Given the description of an element on the screen output the (x, y) to click on. 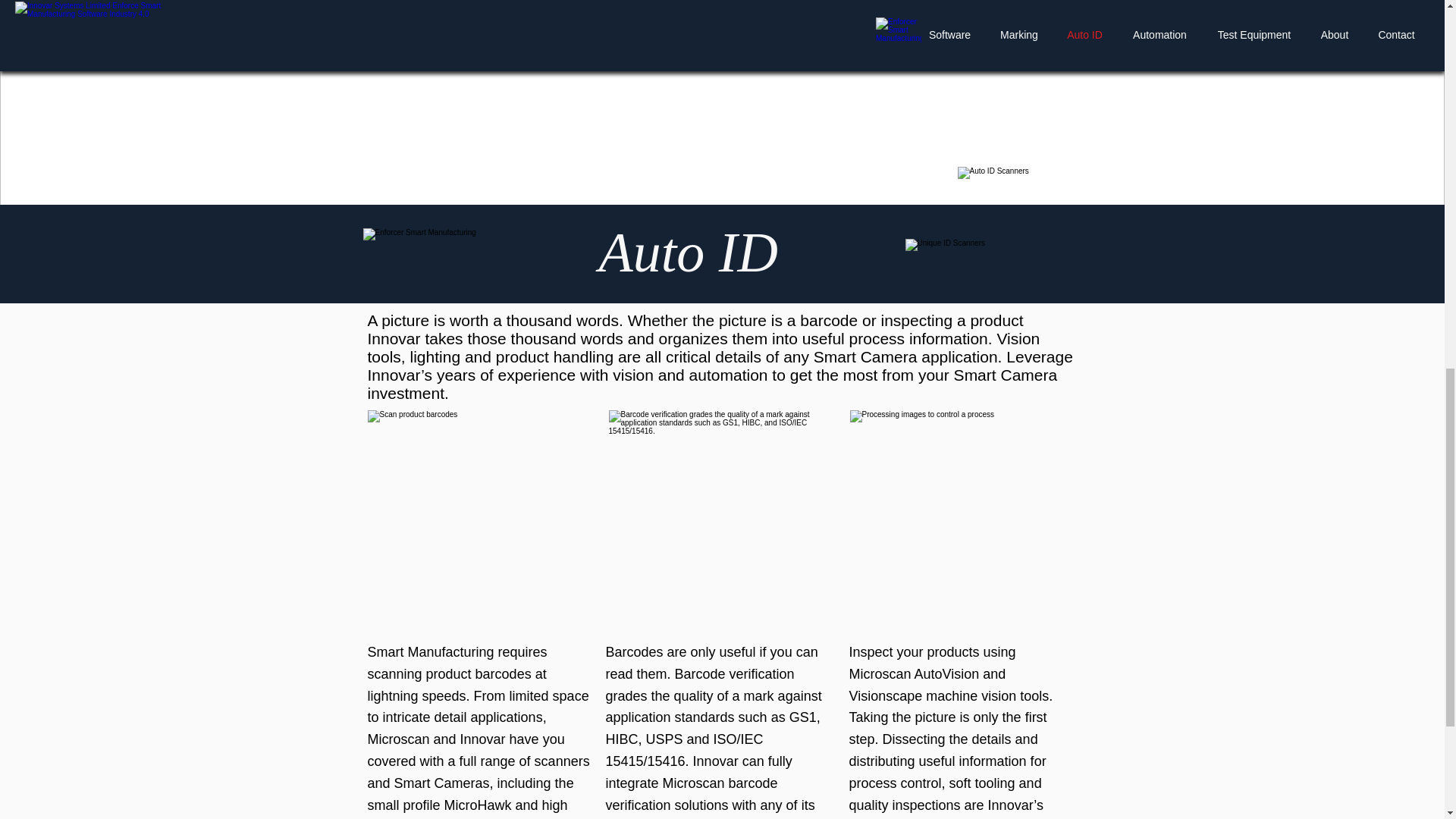
Request a Quote (458, 7)
